Given the description of an element on the screen output the (x, y) to click on. 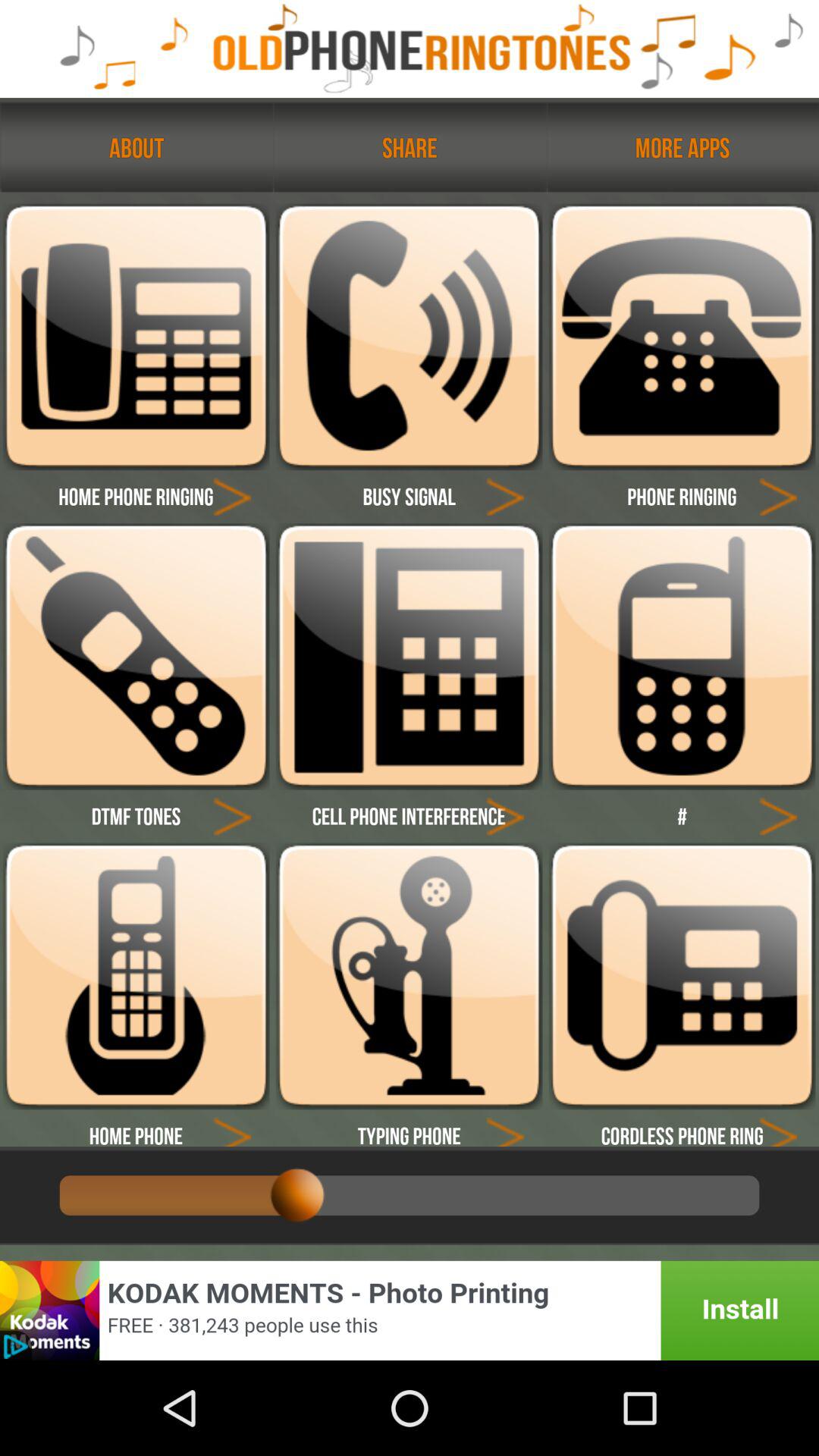
go to next option (778, 815)
